Given the description of an element on the screen output the (x, y) to click on. 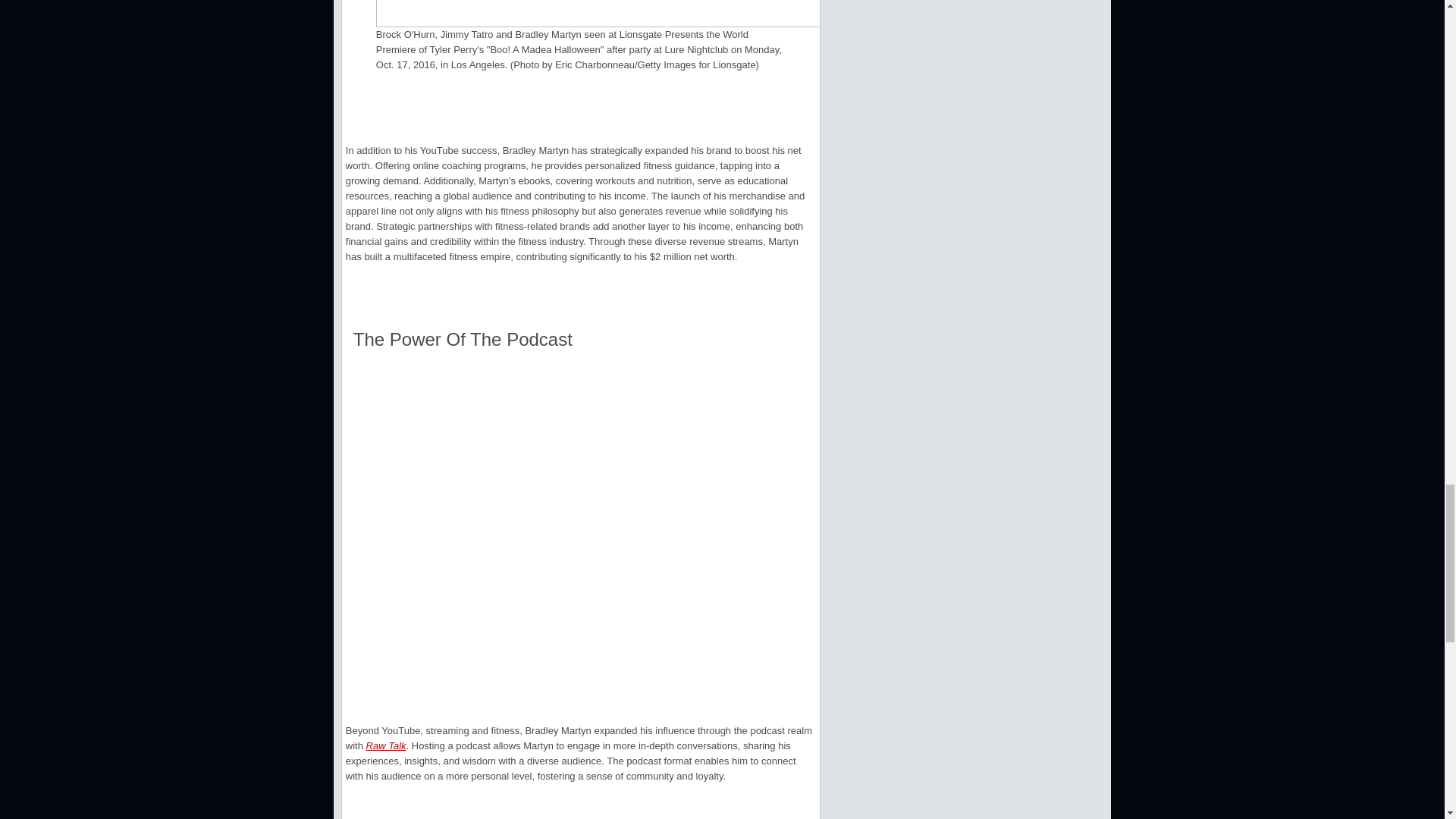
Raw Talk (386, 745)
